Given the description of an element on the screen output the (x, y) to click on. 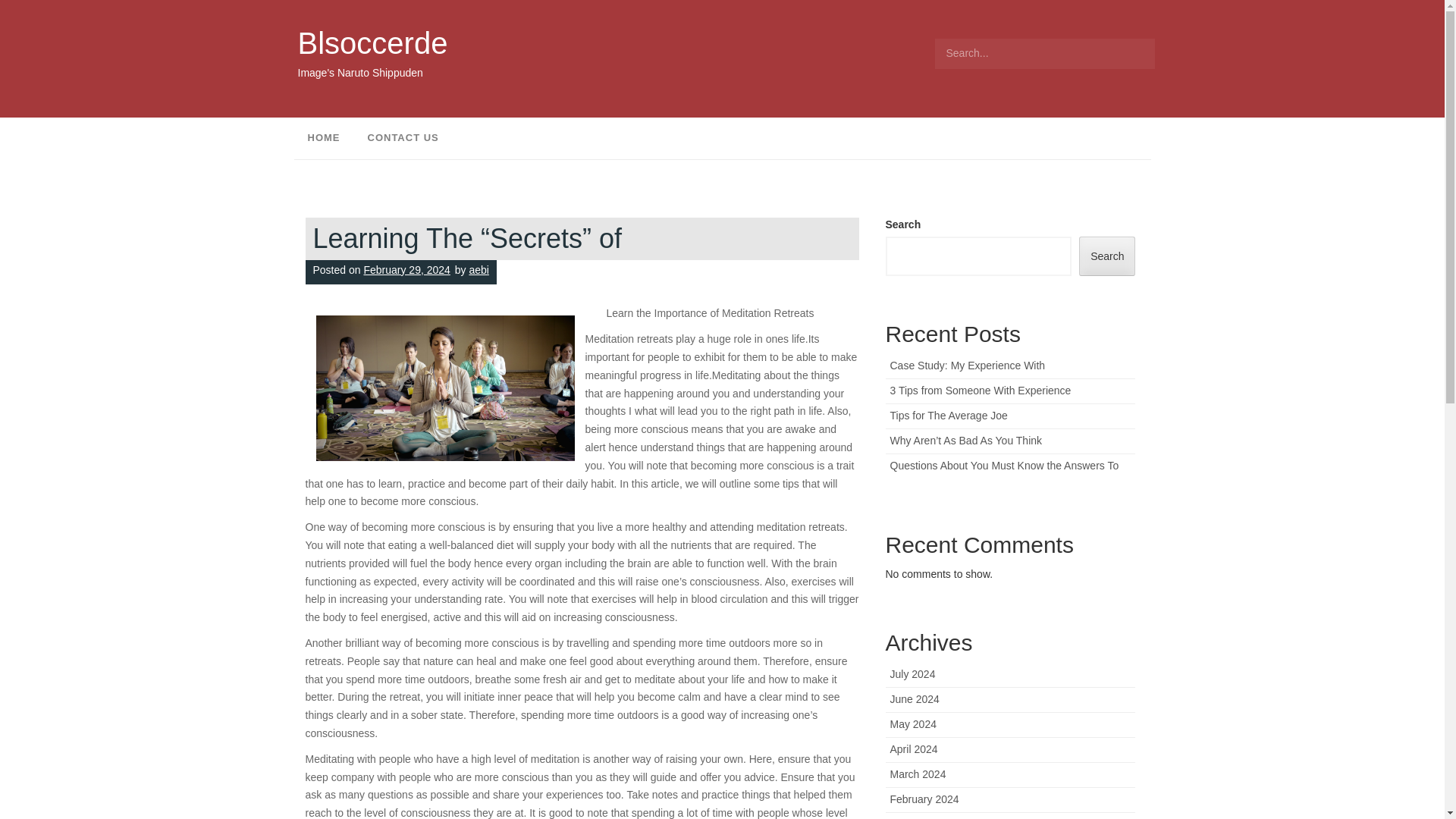
Search (1106, 256)
aebi (477, 269)
Case Study: My Experience With (967, 365)
January 2024 (922, 818)
3 Tips from Someone With Experience (980, 390)
February 2024 (924, 799)
June 2024 (914, 698)
HOME (323, 137)
March 2024 (917, 774)
February 29, 2024 (405, 269)
Search for: (1044, 53)
CONTACT US (402, 137)
Blsoccerde (371, 42)
May 2024 (912, 724)
Questions About You Must Know the Answers To (1004, 465)
